Given the description of an element on the screen output the (x, y) to click on. 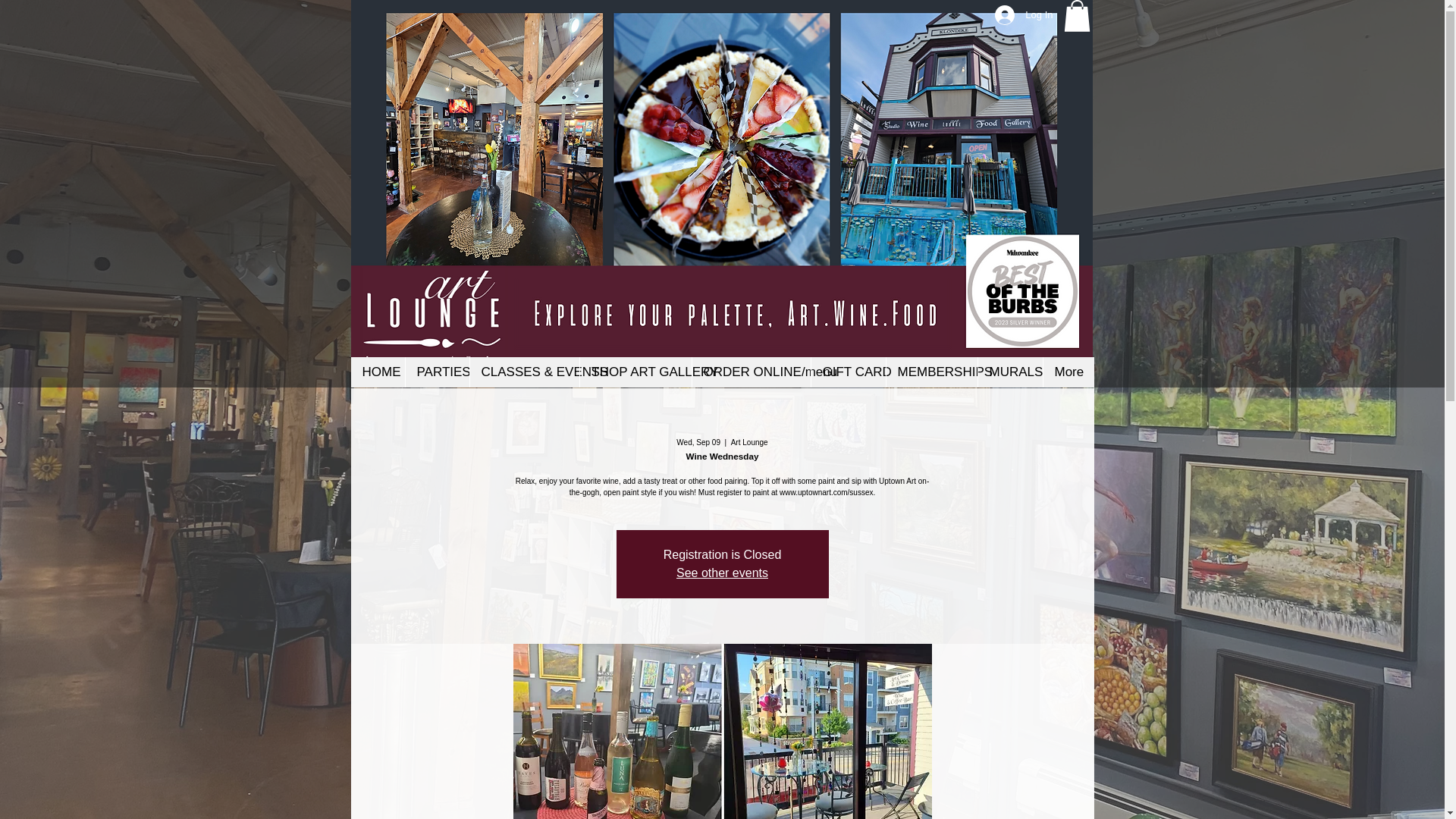
Log In (1023, 14)
HOME (377, 372)
See other events (722, 572)
Log In (1042, 99)
PARTIES (436, 372)
MURALS (1009, 372)
GIFT CARD (847, 372)
MEMBERSHIPS (930, 372)
SHOP ART GALLERY (635, 372)
